Given the description of an element on the screen output the (x, y) to click on. 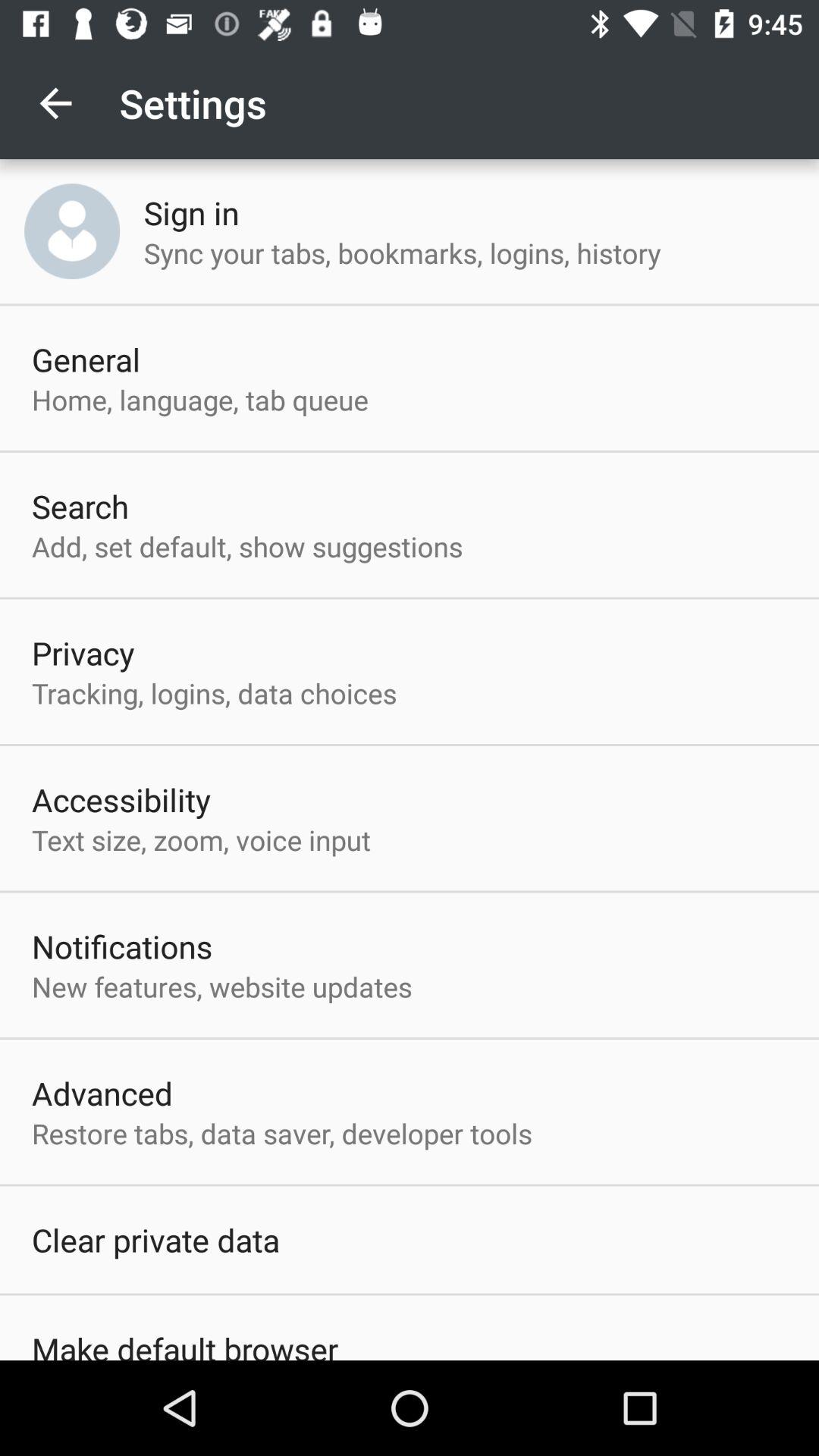
press app to the left of settings item (55, 103)
